Given the description of an element on the screen output the (x, y) to click on. 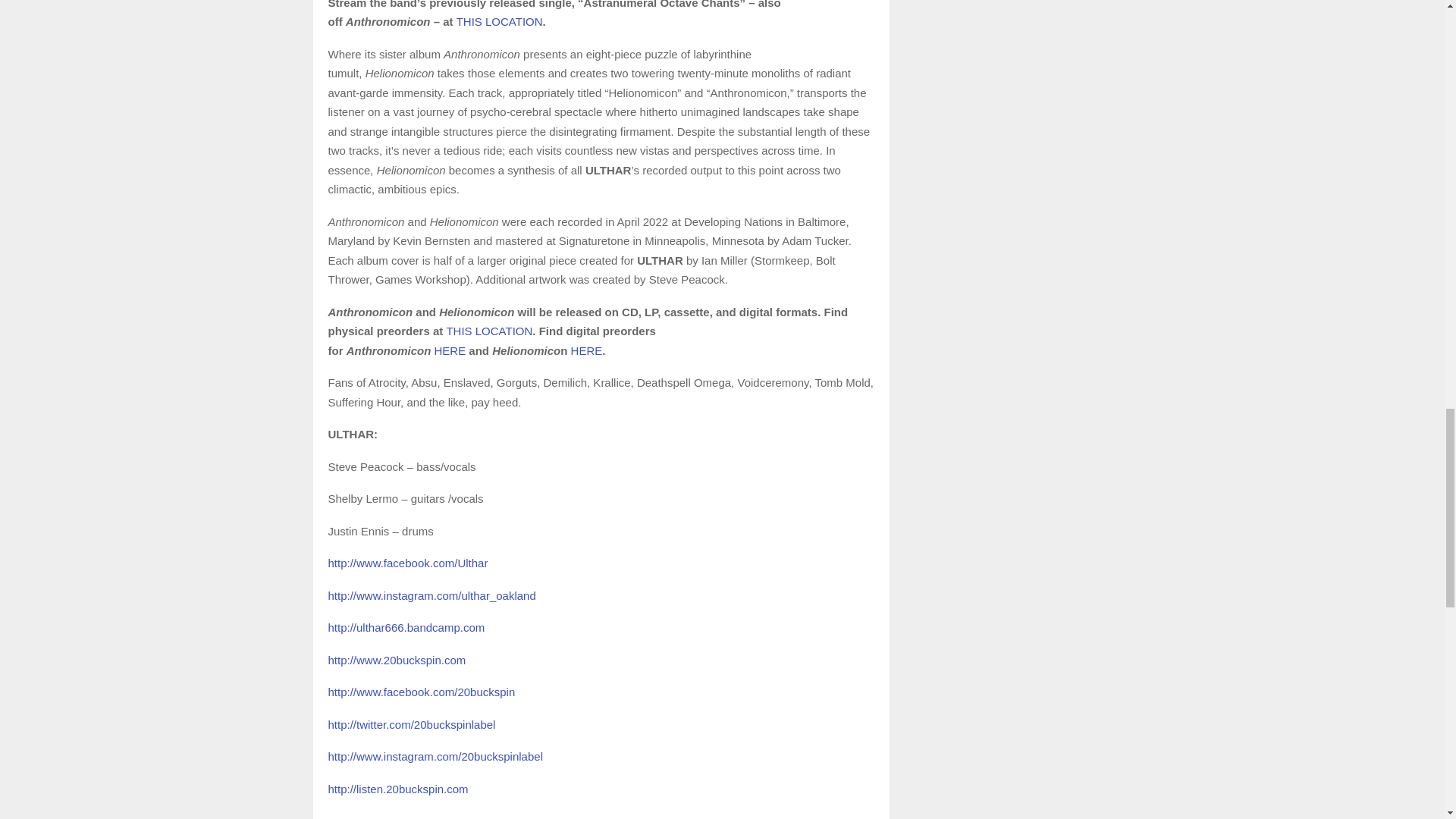
HERE (586, 350)
THIS LOCATION (488, 330)
HERE (449, 350)
THIS LOCATION (500, 21)
